Given the description of an element on the screen output the (x, y) to click on. 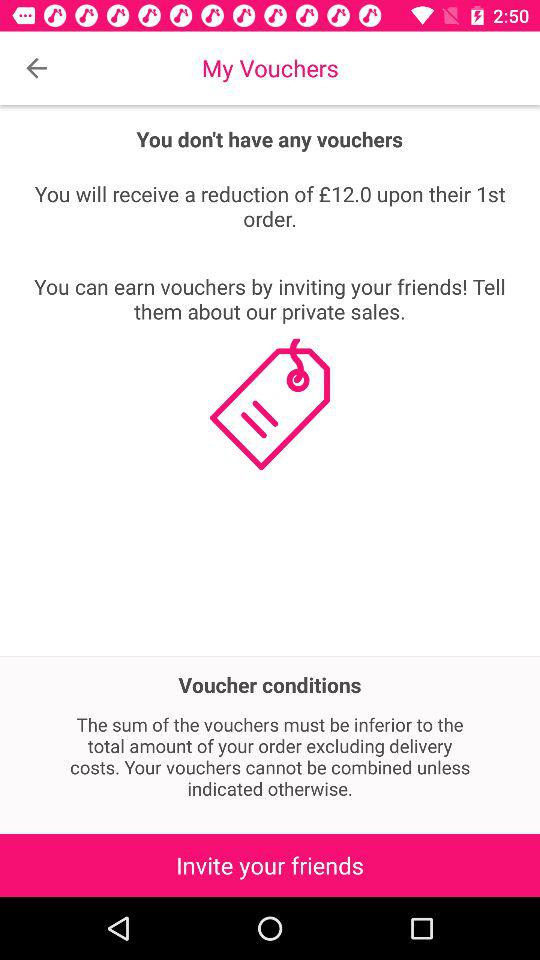
launch the icon at the top left corner (36, 68)
